Given the description of an element on the screen output the (x, y) to click on. 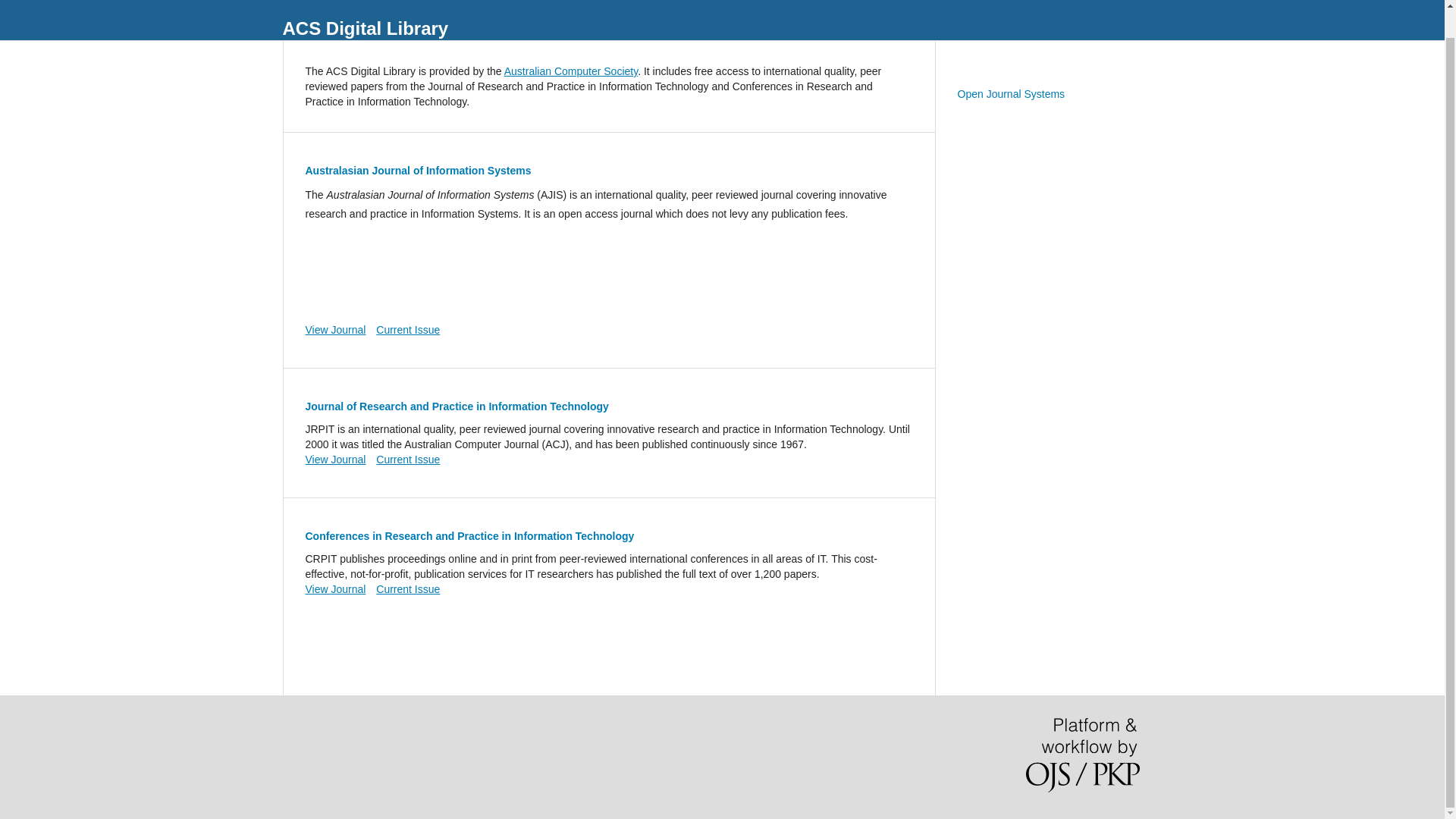
Open Journal Systems (1010, 93)
ACS Digital Library (365, 27)
View Journal (334, 459)
View Journal (334, 589)
Current Issue (407, 589)
View Journal (334, 329)
Australian Computer Society (570, 70)
Current Issue (407, 459)
Current Issue (407, 329)
Journal of Research and Practice in Information Technology (456, 406)
Australasian Journal of Information Systems (417, 170)
